Given the description of an element on the screen output the (x, y) to click on. 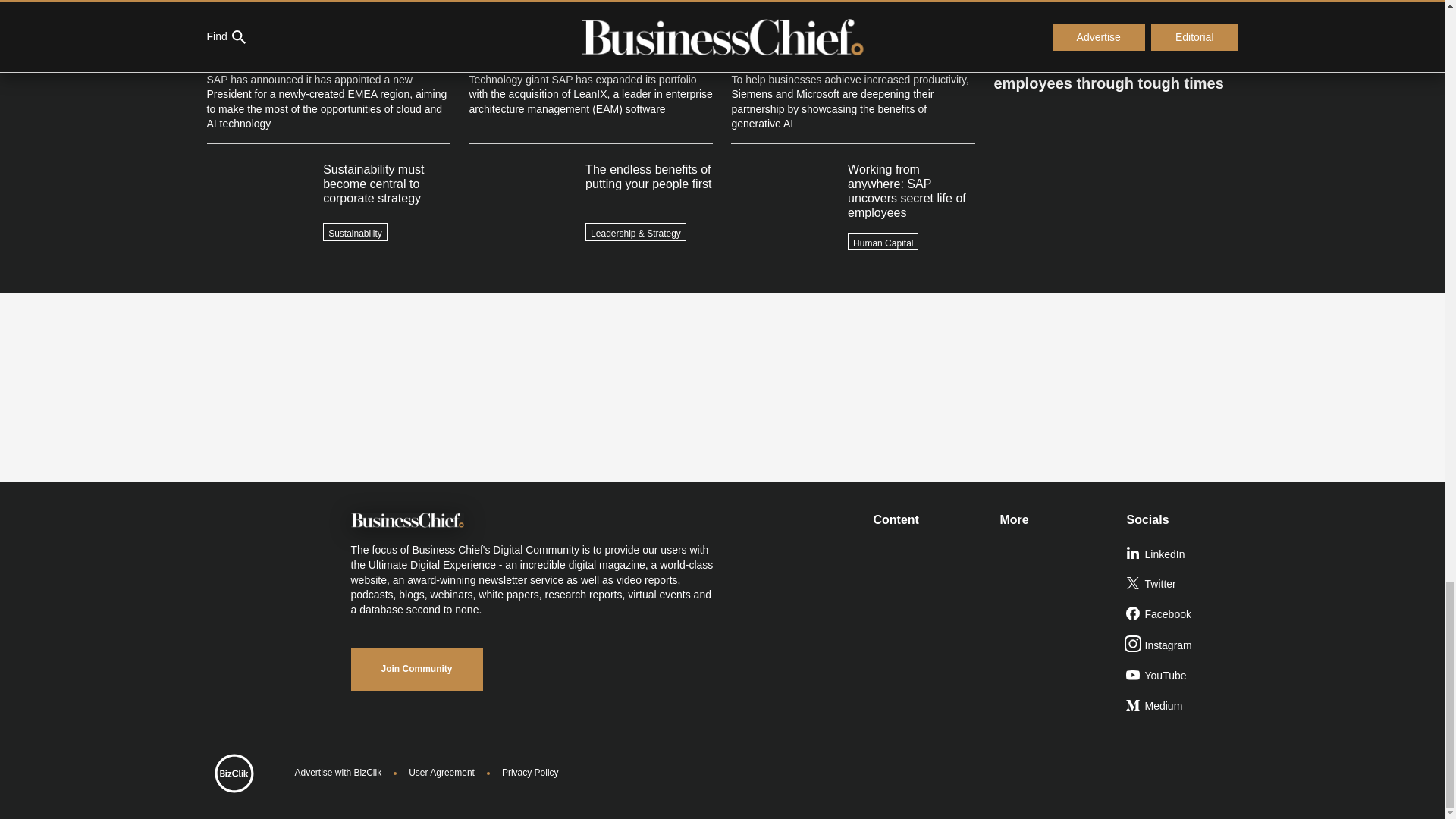
Twitter (1182, 584)
LinkedIn (1182, 554)
Instagram (1182, 644)
Perkbox CEO: How to support employees through tough times (1114, 67)
How Octopus Energy grew to become an industry giant (1114, 20)
Join Community (415, 669)
Facebook (1182, 614)
